Given the description of an element on the screen output the (x, y) to click on. 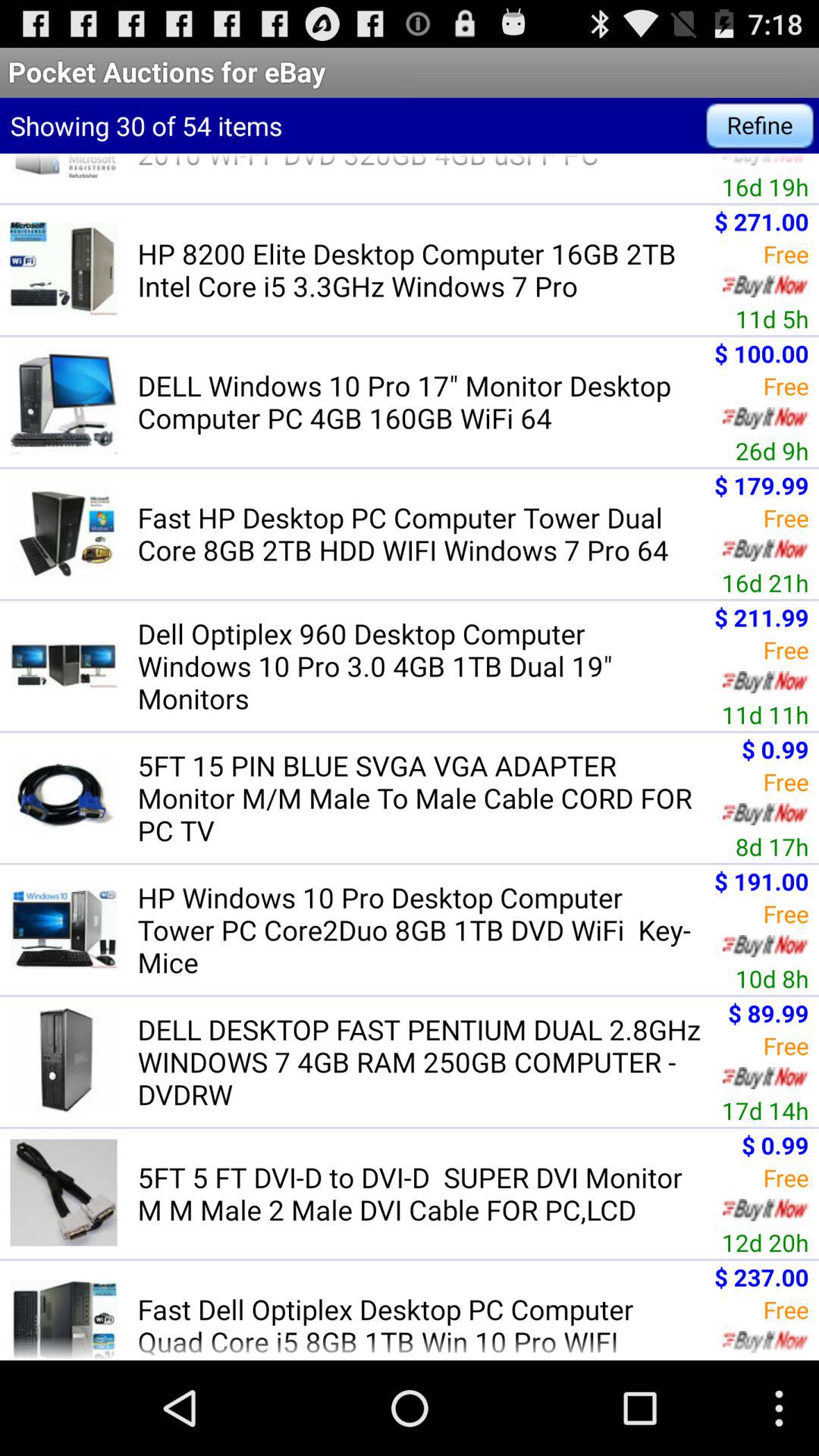
click the button at the top right side of the page (760, 125)
